Given the description of an element on the screen output the (x, y) to click on. 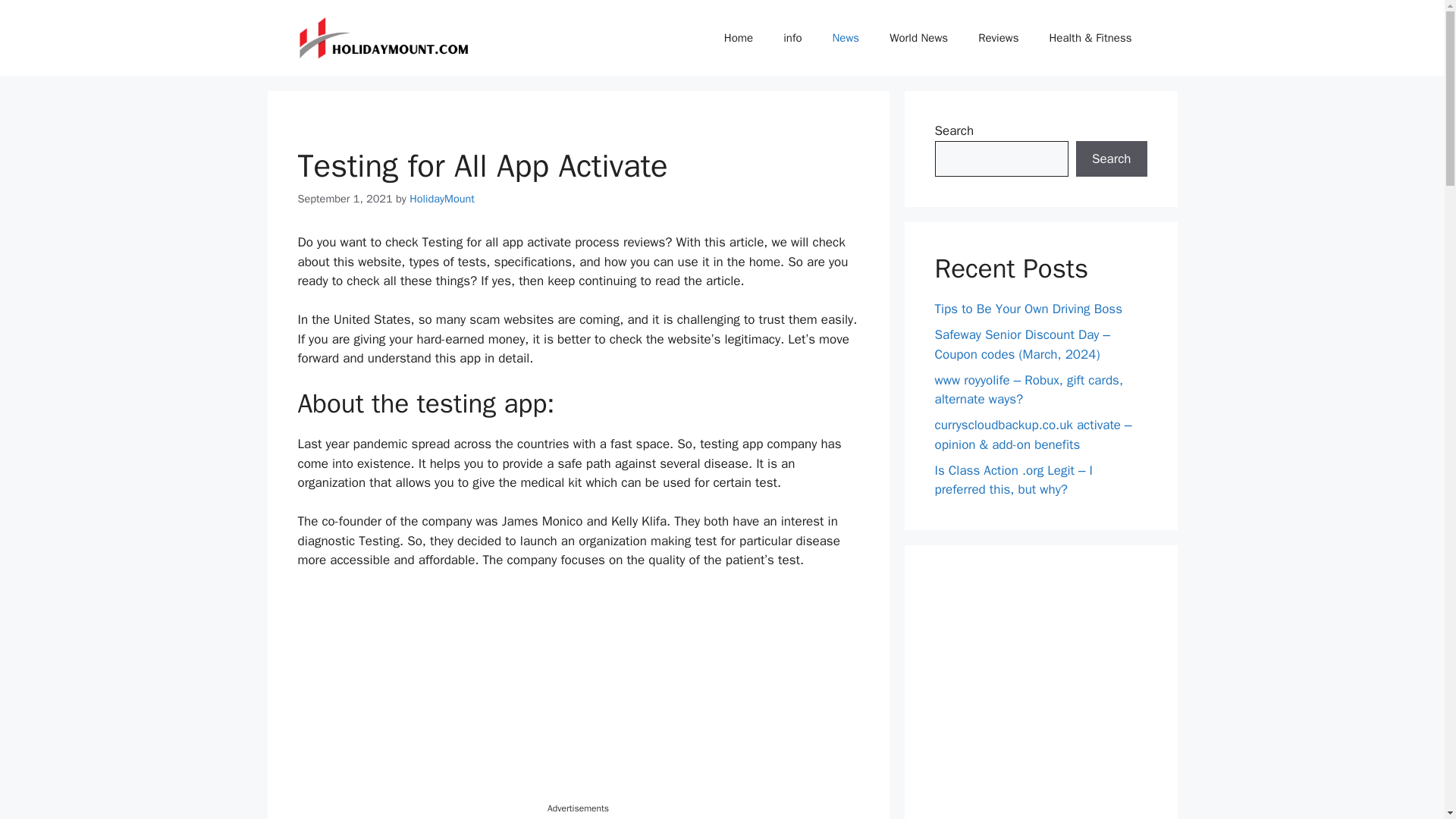
News (845, 37)
Advertisement (578, 694)
World News (918, 37)
info (792, 37)
HolidayMount (441, 198)
View all posts by HolidayMount (441, 198)
Search (1111, 158)
Tips to Be Your Own Driving Boss (1028, 308)
Home (738, 37)
Reviews (997, 37)
